Given the description of an element on the screen output the (x, y) to click on. 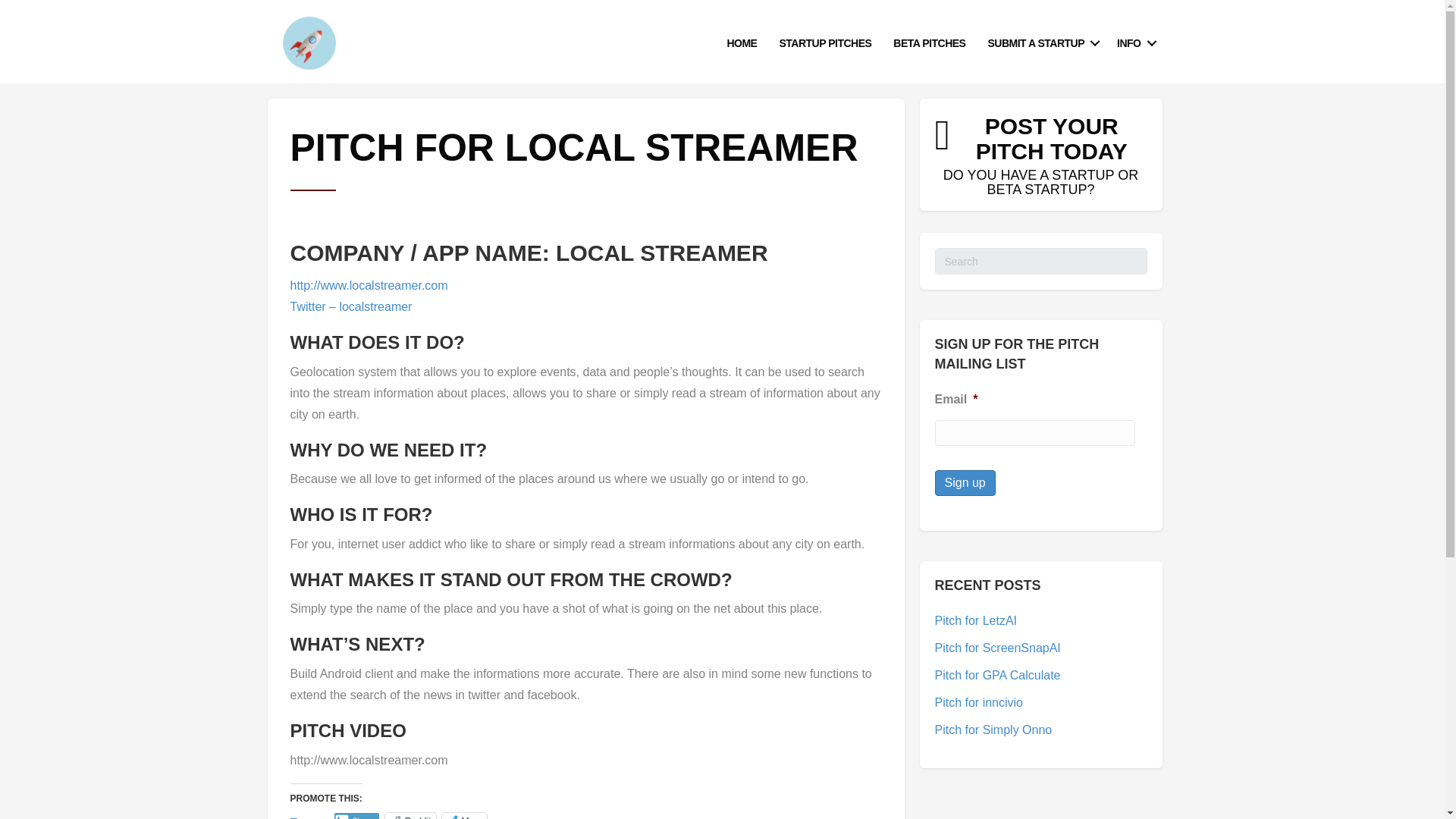
Share (356, 816)
Pitch for GPA Calculate (996, 675)
More (463, 816)
Reddit (410, 816)
Type and press Enter to search. (1040, 261)
Sign up (964, 482)
Pitch for inncivio (978, 702)
Tweet (305, 816)
Sign up (964, 482)
Click to share on Reddit (410, 816)
Pitch for ScreenSnapAI (1039, 154)
HOME (996, 647)
INFO (741, 43)
Pitch for Simply Onno (1133, 43)
